Given the description of an element on the screen output the (x, y) to click on. 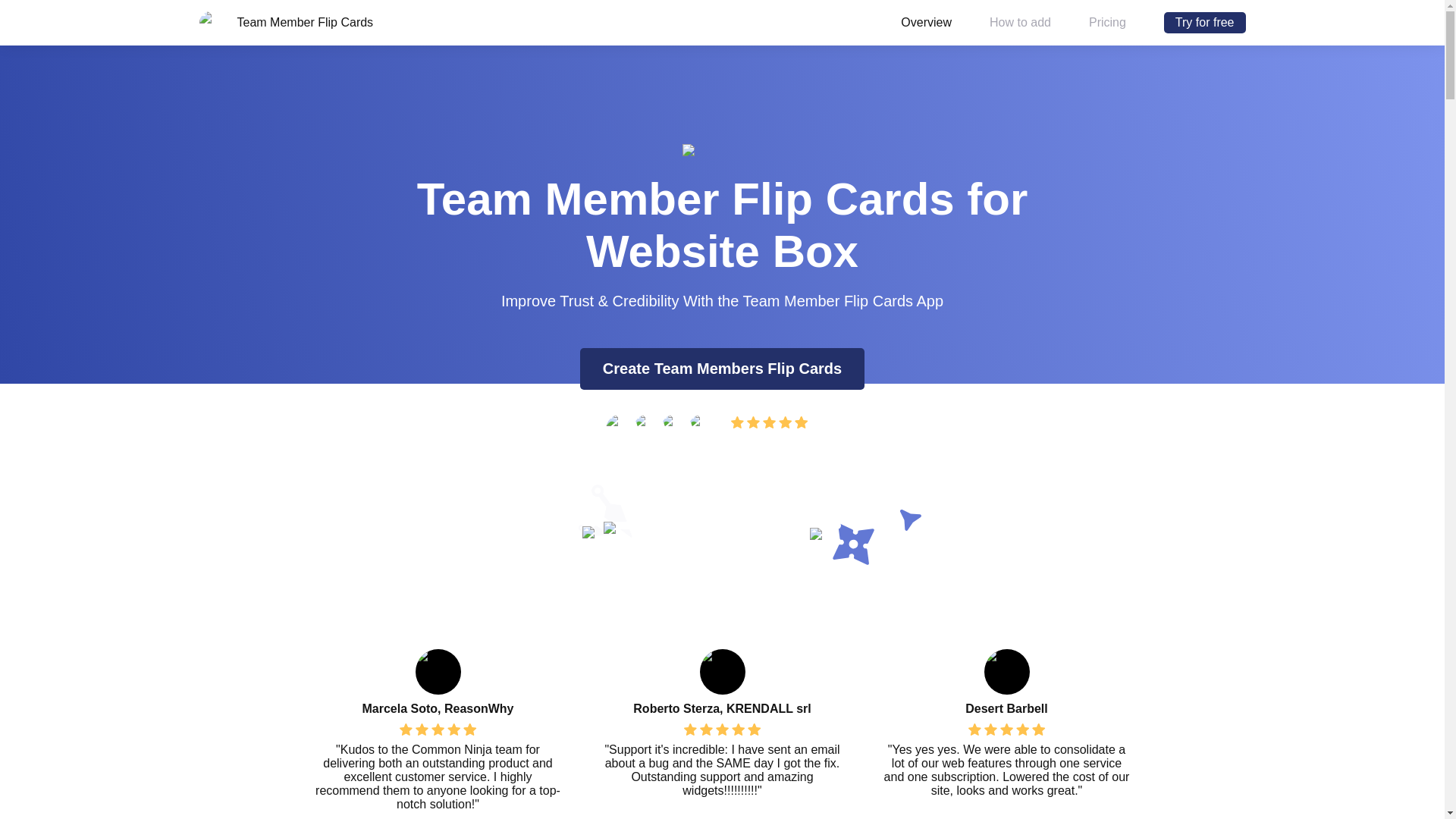
Widgets (334, 21)
Pricing (412, 21)
Solutions (493, 21)
Free Team Member Flip Cards for Website Box (1204, 22)
Create Team Members Flip Cards for Website Box (721, 368)
